Given the description of an element on the screen output the (x, y) to click on. 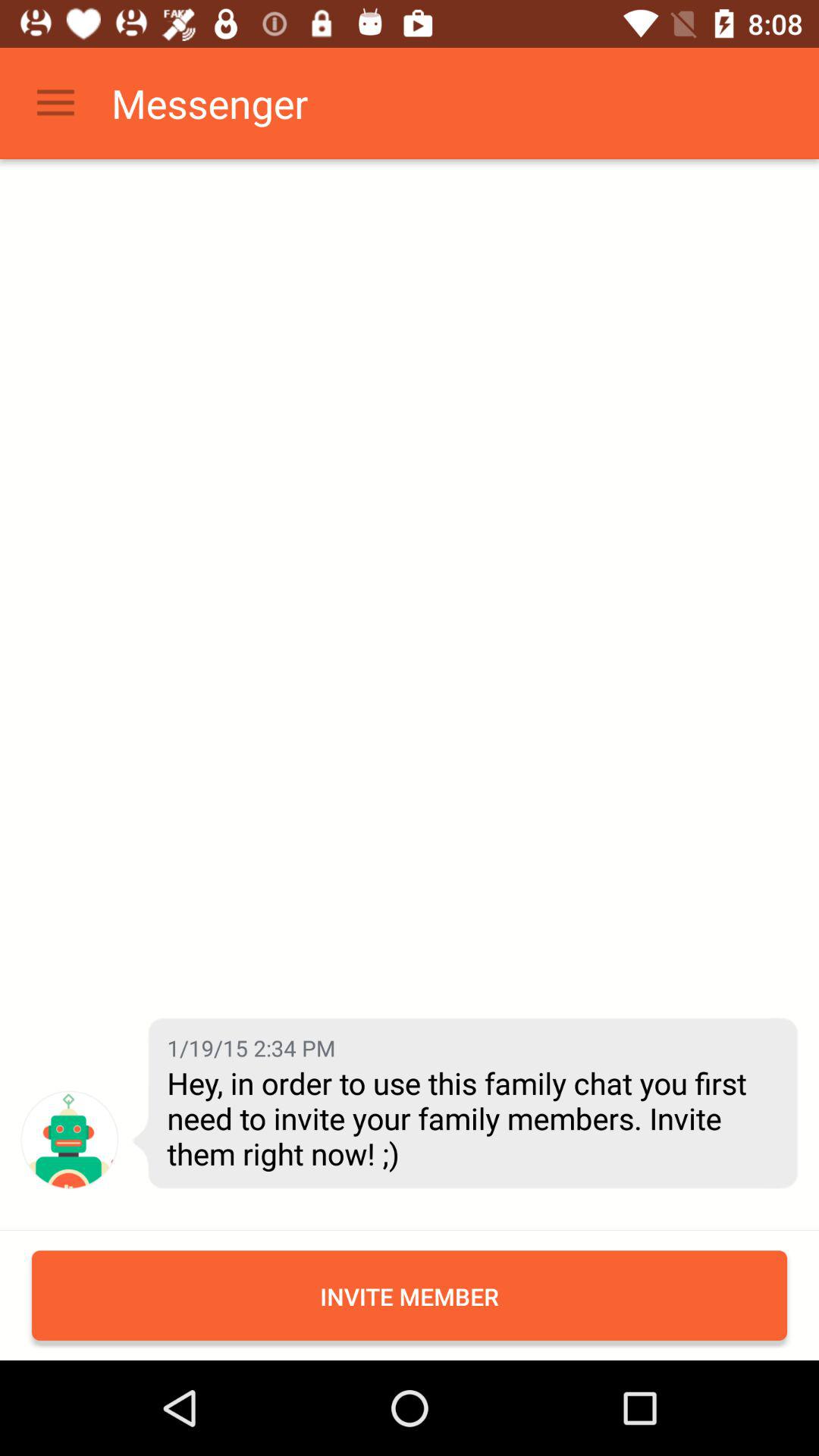
open 1 19 15 item (251, 1047)
